Given the description of an element on the screen output the (x, y) to click on. 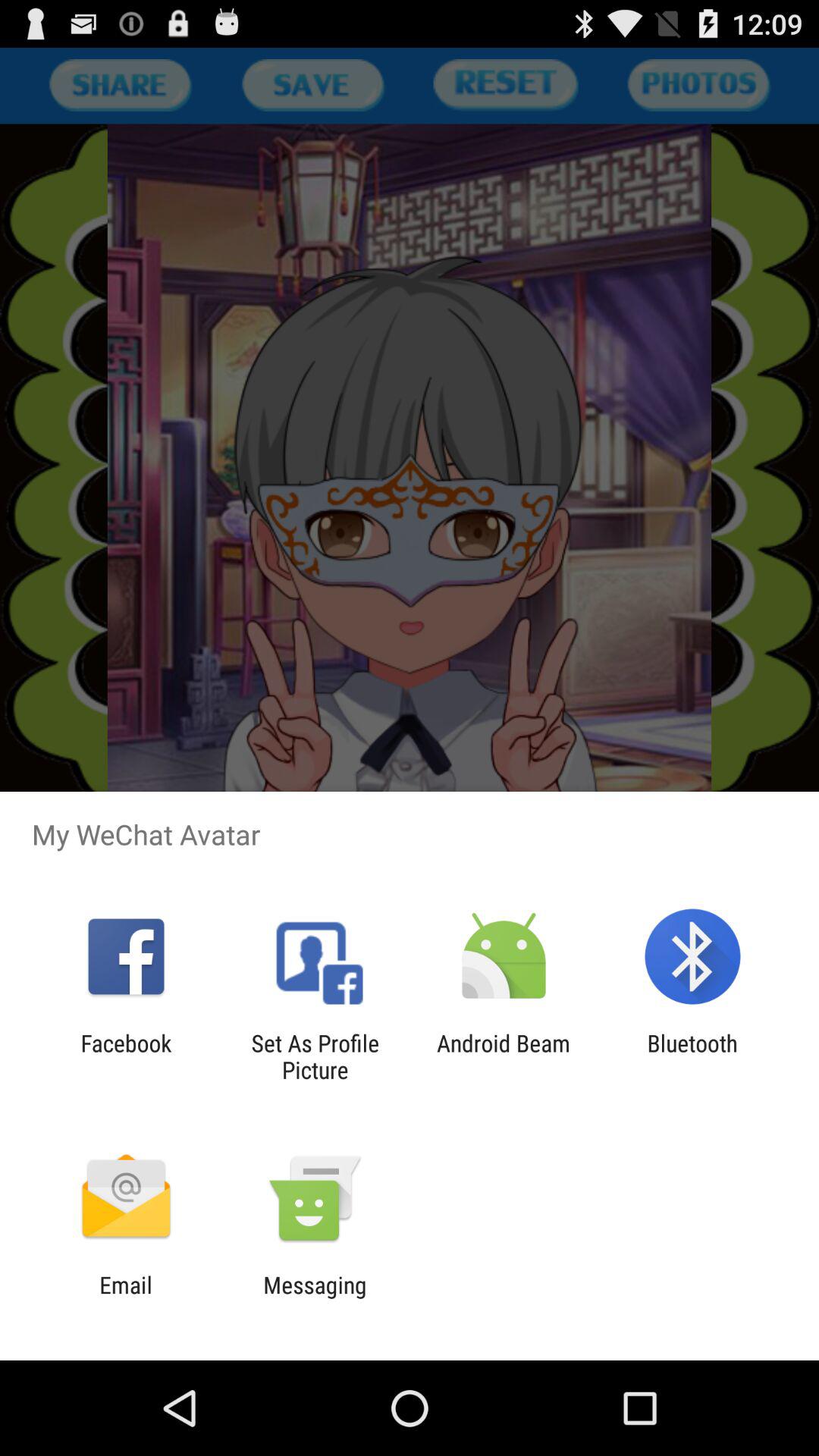
select item to the left of the bluetooth icon (503, 1056)
